Given the description of an element on the screen output the (x, y) to click on. 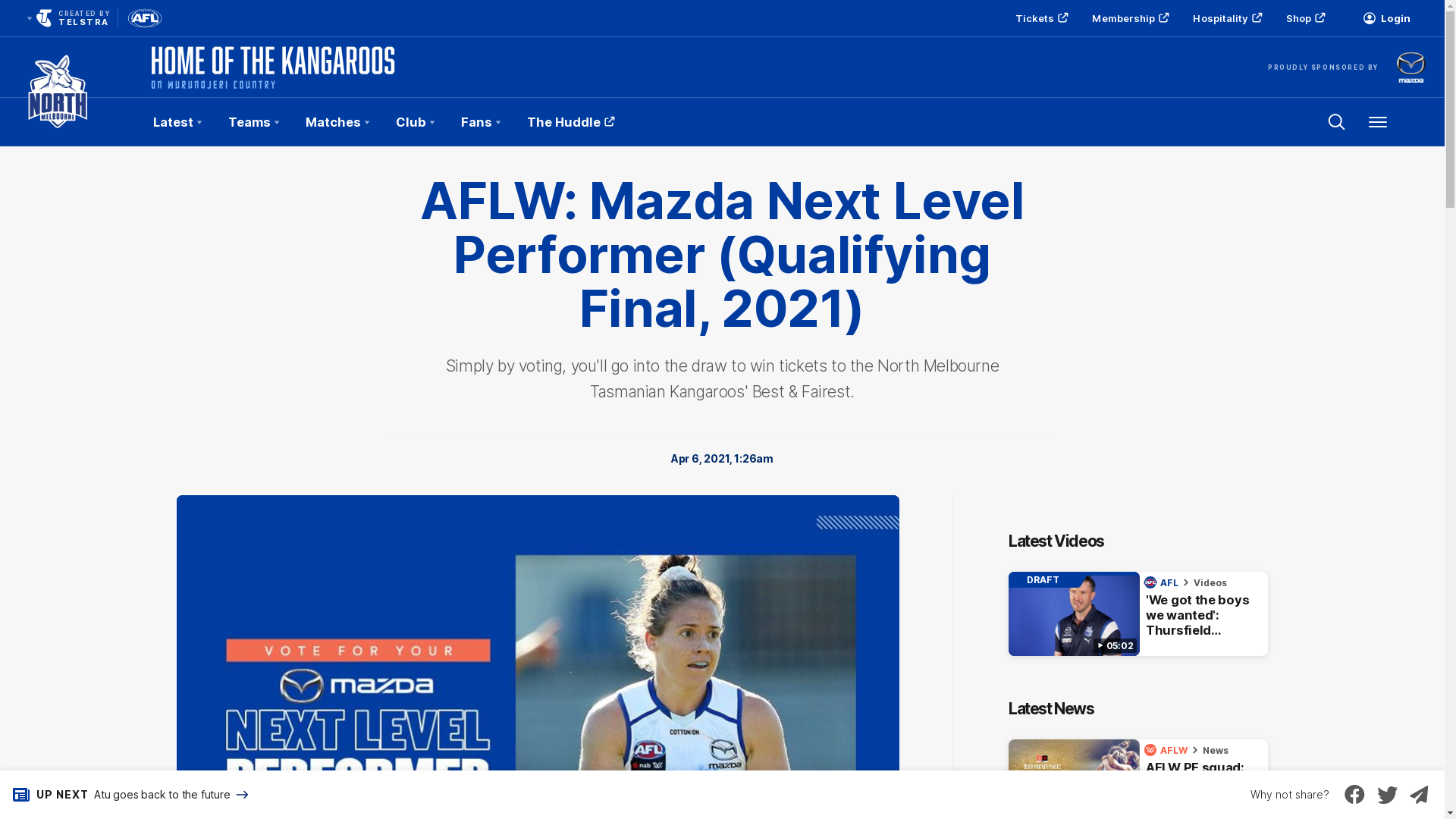
The Huddle Element type: text (568, 121)
AFL Element type: text (1163, 582)
Shop Element type: text (1303, 18)
Club Logo Element type: text (57, 121)
UP NEXT
Atu goes back to the future Element type: text (125, 794)
Teams Element type: text (252, 121)
Latest Element type: text (176, 121)
Matches Element type: text (336, 121)
Fans Element type: text (480, 121)
Tickets Element type: text (1040, 18)
AFLW Element type: text (1167, 749)
Login Element type: text (1386, 18)
Club Element type: text (414, 121)
Membership Element type: text (1128, 18)
News Element type: text (1215, 750)
Menu Element type: text (1377, 121)
Videos Element type: text (1209, 582)
CREATED BY
TELSTRA Element type: text (66, 18)
Hospitality Element type: text (1225, 18)
